Given the description of an element on the screen output the (x, y) to click on. 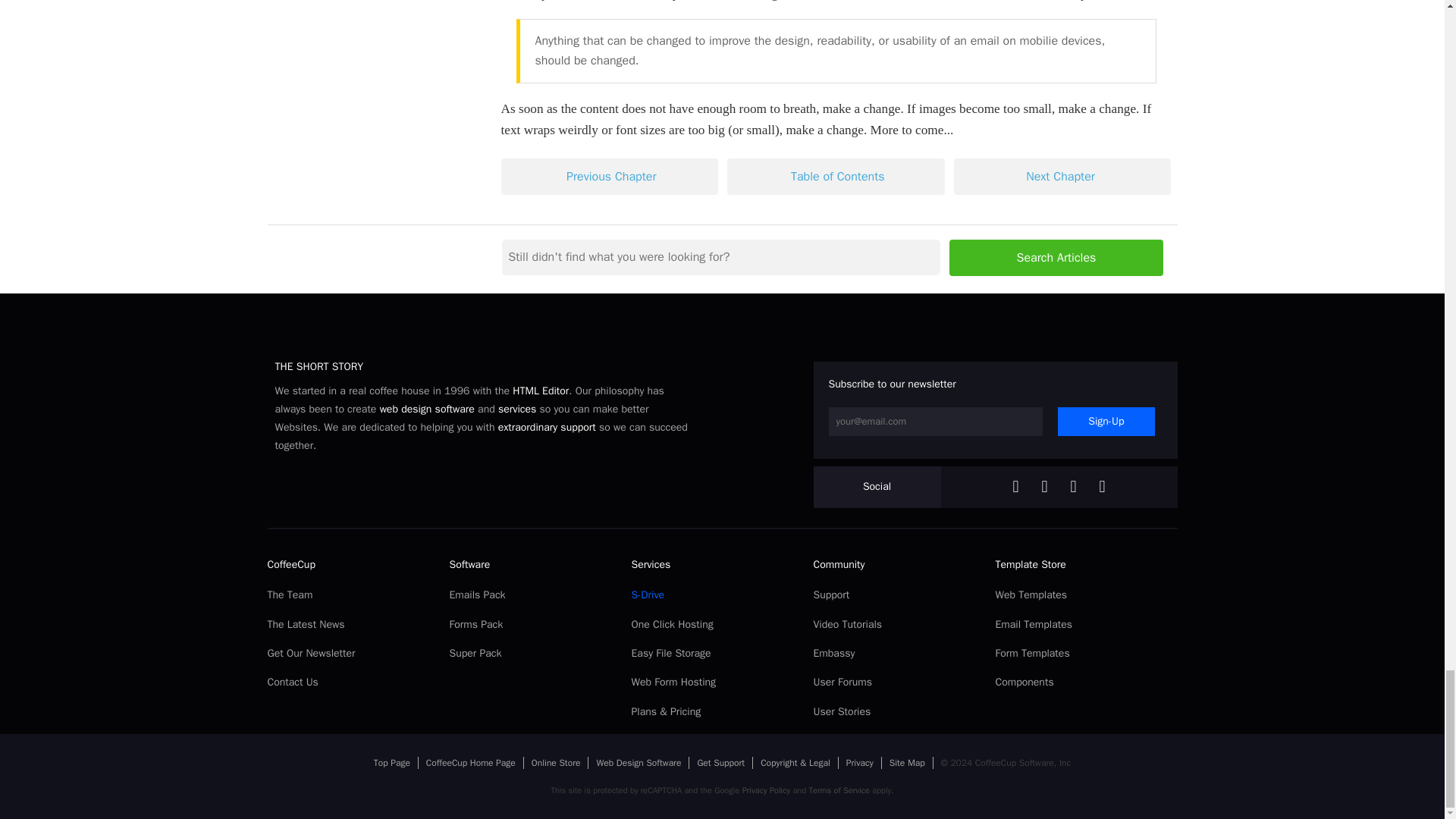
Search Articles (1056, 257)
